Given the description of an element on the screen output the (x, y) to click on. 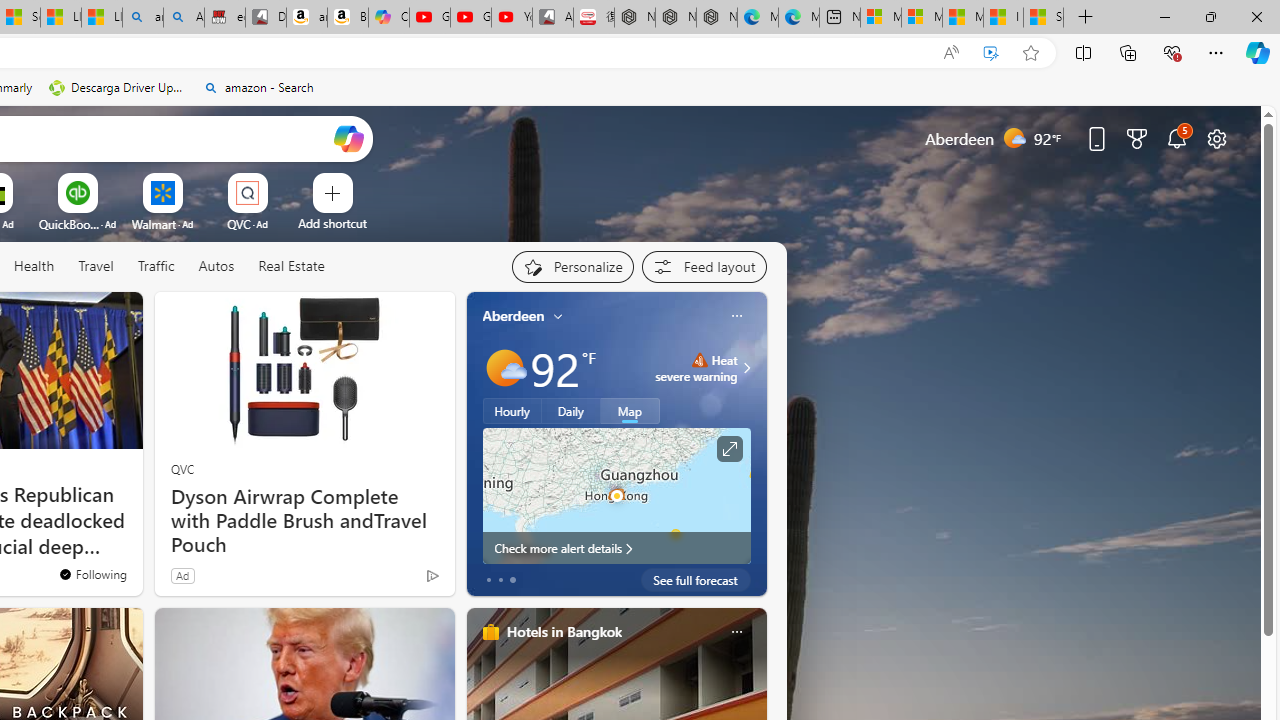
My location (558, 315)
All Cubot phones (552, 17)
hotels-header-icon (490, 632)
tab-1 (500, 579)
Nordace - Nordace has arrived Hong Kong (717, 17)
Class: icon-img (736, 632)
Traffic (155, 265)
Travel (95, 265)
QVC (182, 468)
Microsoft rewards (1137, 138)
Health (33, 267)
Enhance video (991, 53)
